Given the description of an element on the screen output the (x, y) to click on. 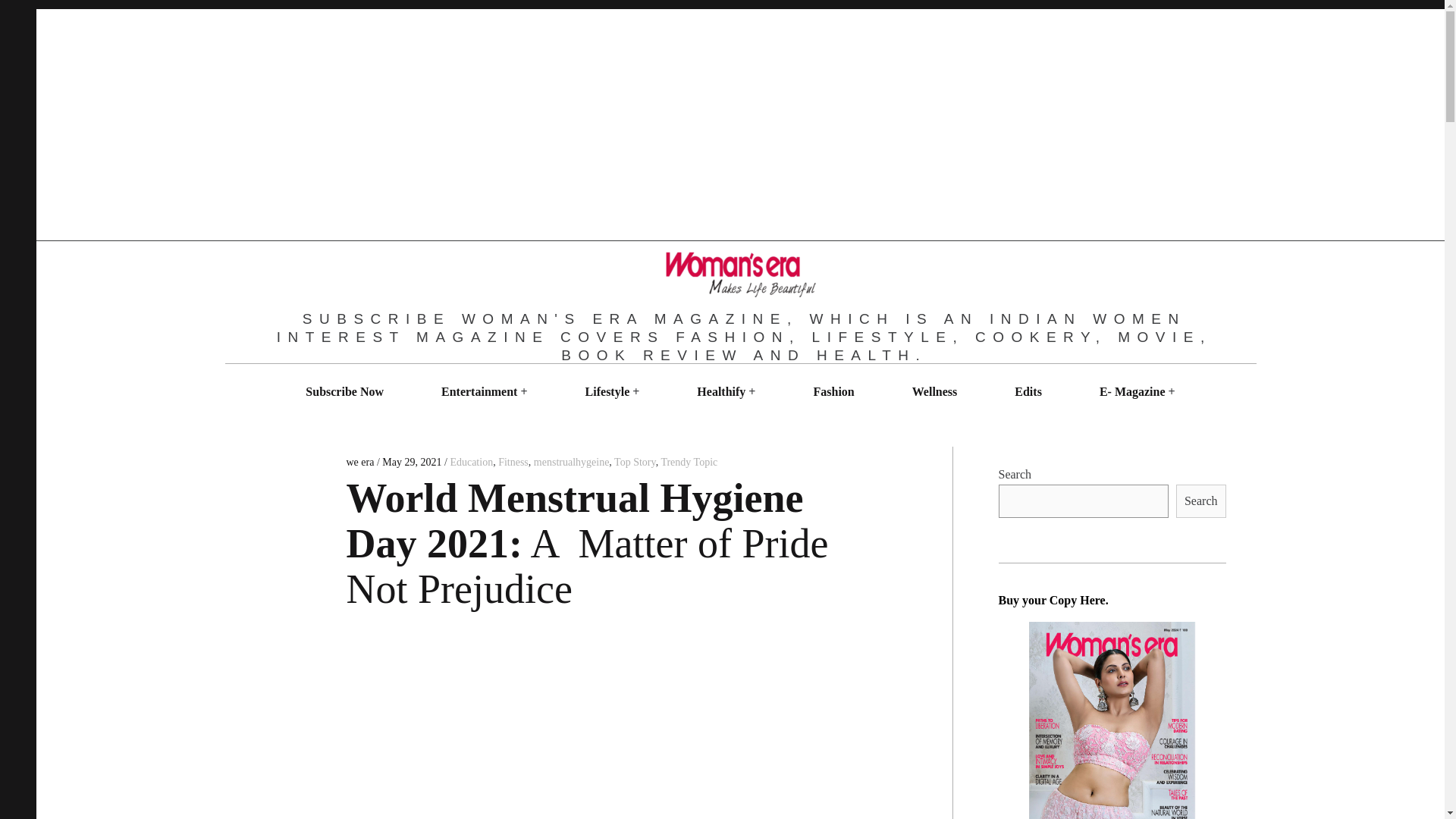
we era (360, 461)
Fitness (512, 461)
Healthify (721, 391)
E- Magazine (1131, 391)
Fashion (833, 391)
May 29, 2021 (411, 461)
Advertisement (603, 729)
menstrualhygeine (572, 461)
Top Story (635, 461)
Trendy Topic (689, 461)
